Given the description of an element on the screen output the (x, y) to click on. 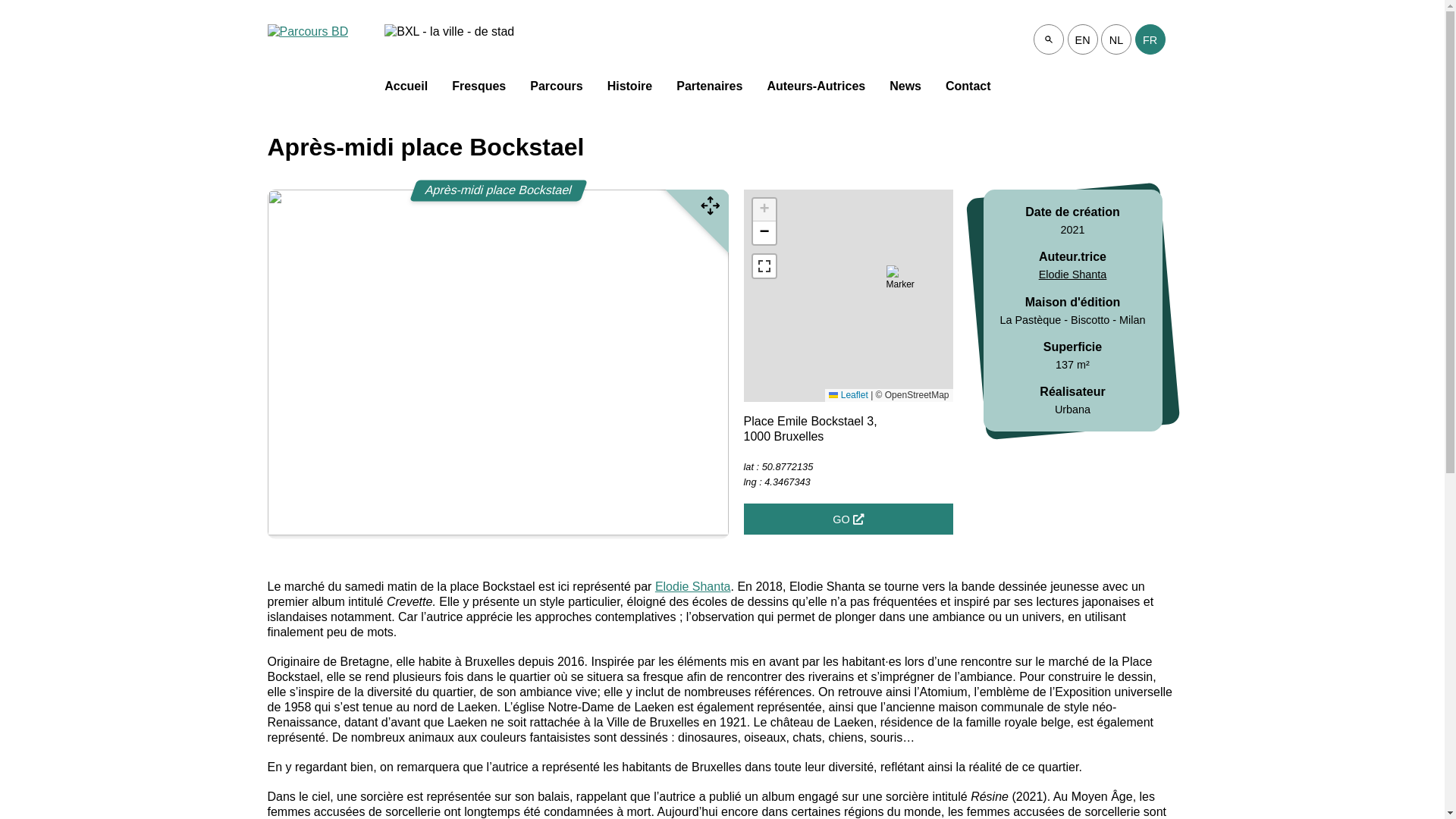
Leaflet Element type: text (847, 394)
View Fullscreen Element type: hover (763, 265)
+ Element type: text (763, 209)
NL Element type: text (1115, 40)
Auteurs-Autrices Element type: text (815, 94)
Histoire Element type: text (629, 94)
GO Element type: text (847, 518)
News Element type: text (905, 94)
Fresques Element type: text (478, 94)
Parcours Element type: text (556, 94)
FR Element type: text (1149, 40)
Contact Element type: text (968, 94)
Elodie Shanta Element type: text (1072, 274)
Accueil Element type: text (405, 94)
Elodie Shanta Element type: text (693, 586)
EN Element type: text (1082, 40)
Partenaires Element type: text (709, 94)
